Given the description of an element on the screen output the (x, y) to click on. 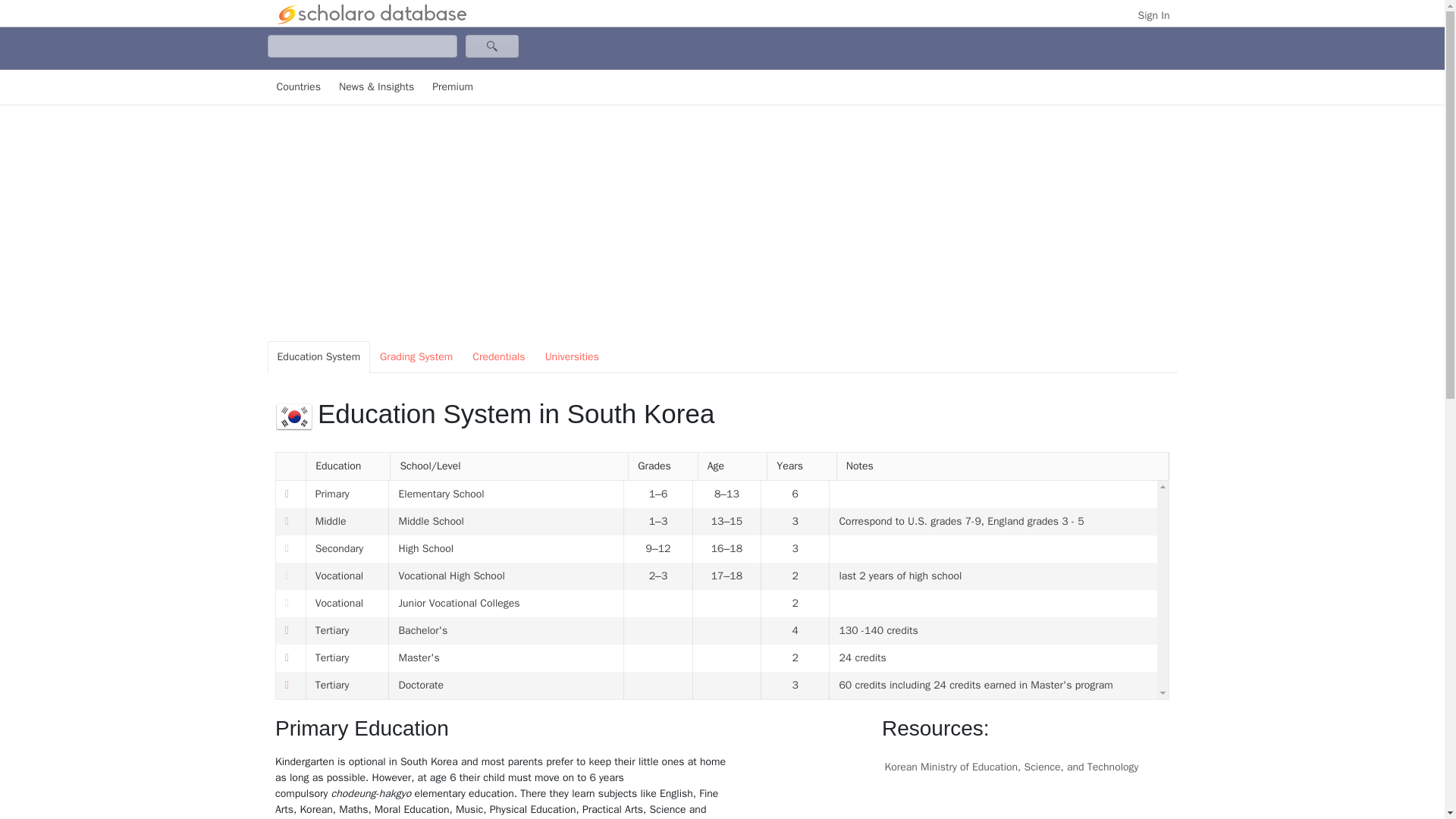
Premium (452, 87)
Universities (571, 357)
Countries (297, 87)
Sign In (1154, 15)
Credentials (498, 357)
Education System (318, 357)
Korean Ministry of Education, Science, and Technology (1024, 766)
Grading System (416, 357)
